Given the description of an element on the screen output the (x, y) to click on. 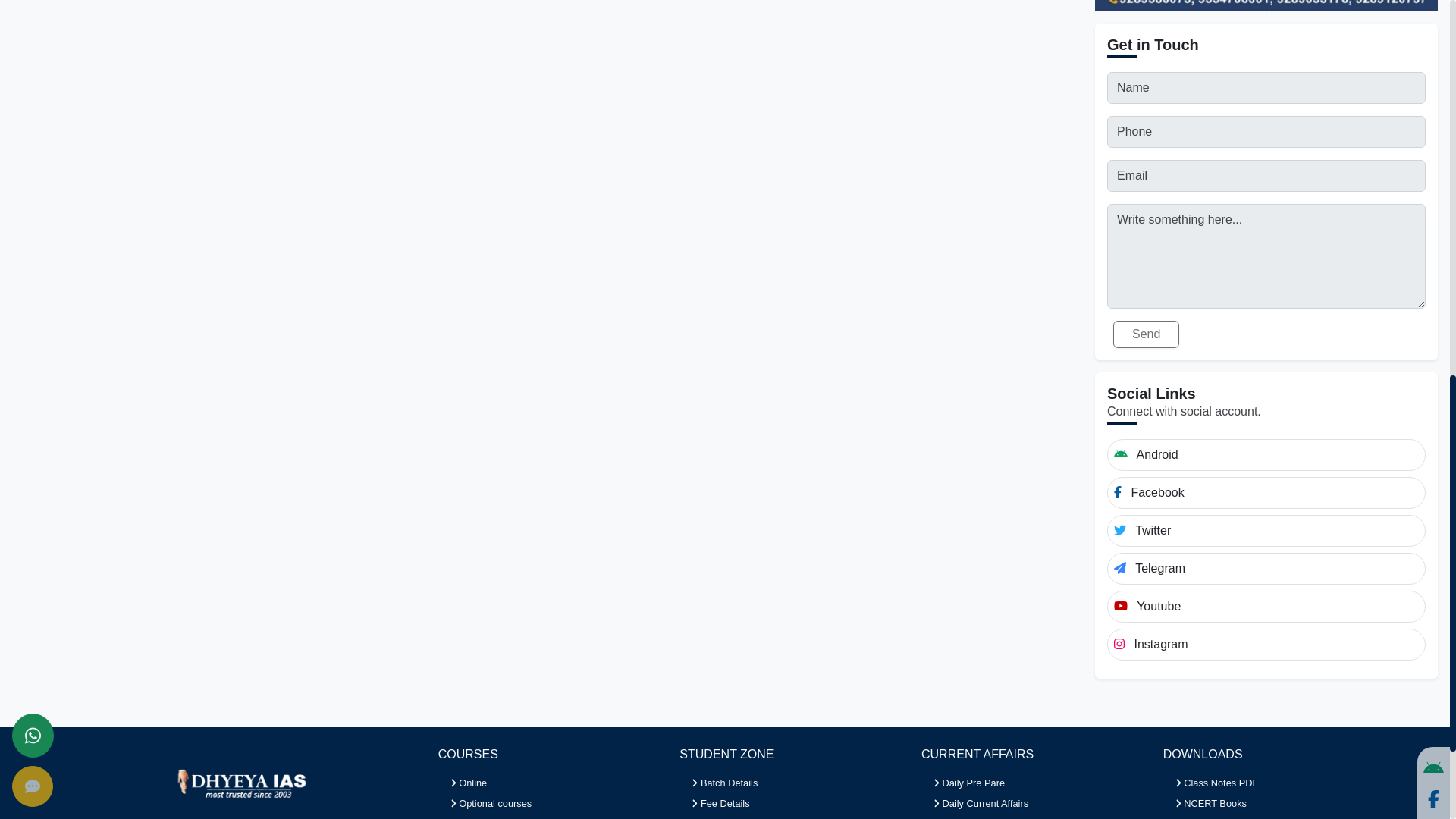
Facebook (1265, 480)
Twitter (1265, 518)
Youtube (1265, 594)
Instagram (1265, 632)
Telegram (1265, 556)
Android (1265, 442)
Twitter (1433, 817)
